Given the description of an element on the screen output the (x, y) to click on. 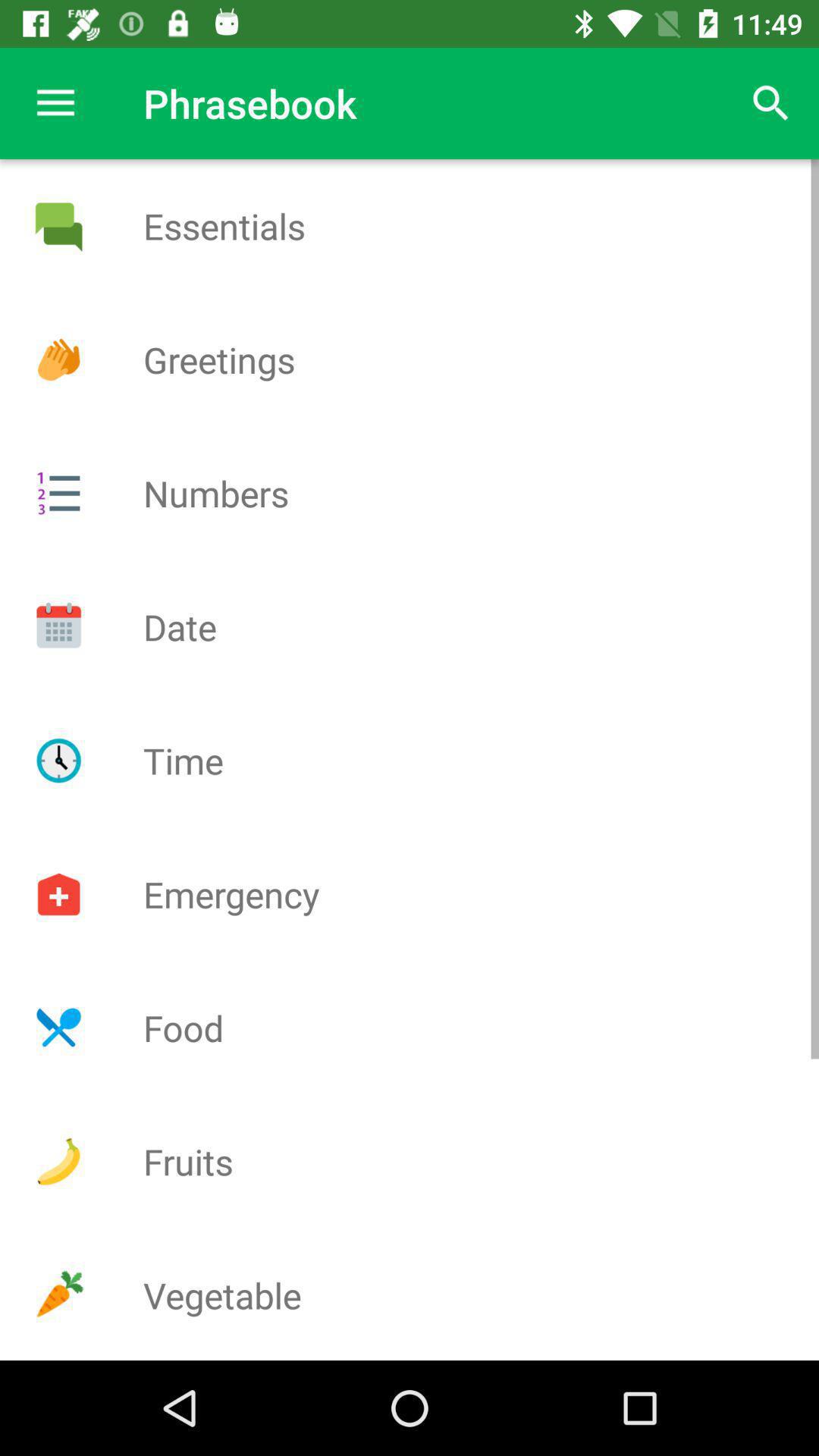
greetings (58, 359)
